Given the description of an element on the screen output the (x, y) to click on. 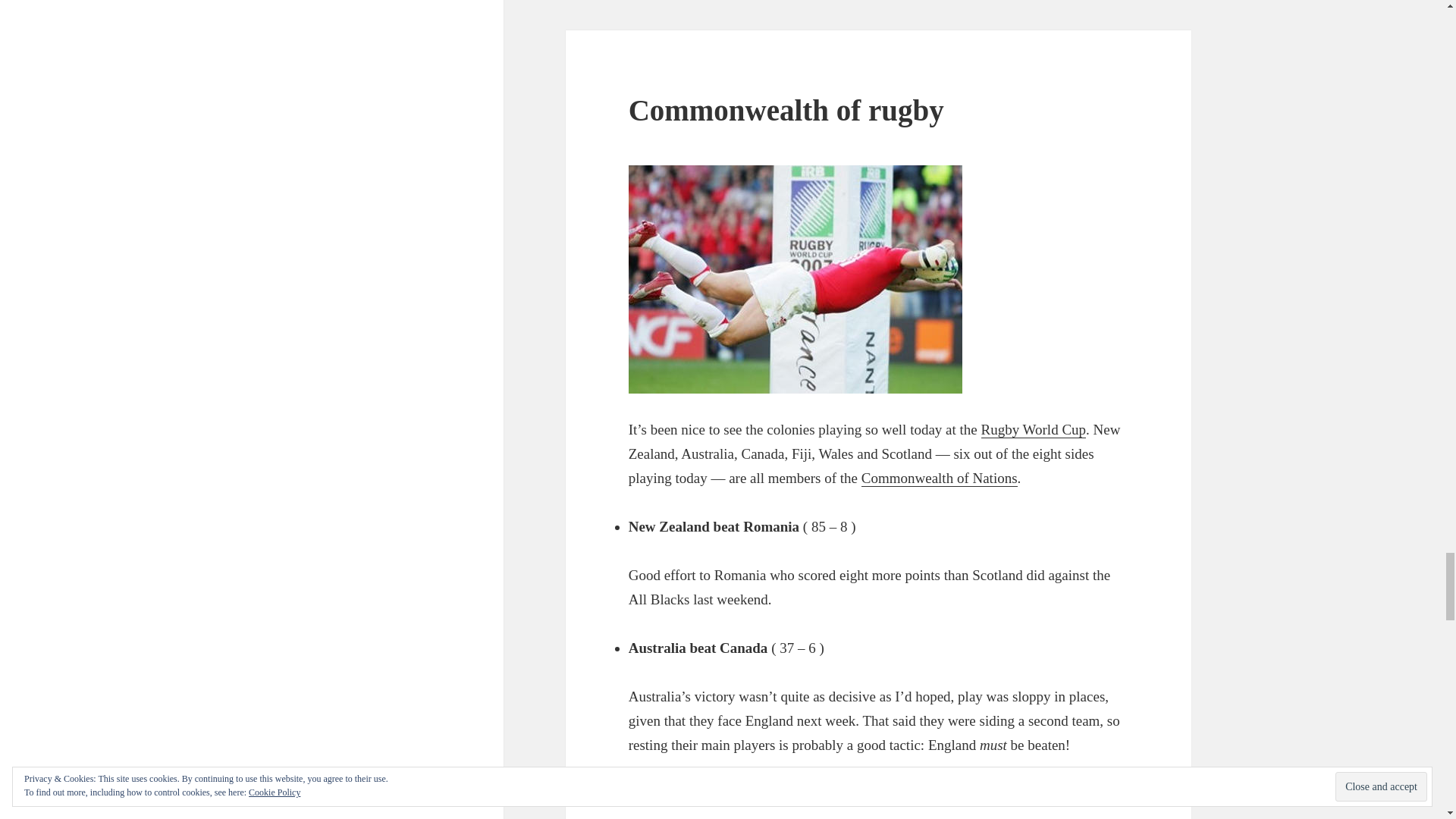
iRB Rugby World Cup 2007 (1033, 429)
About the Commonwealth of Nations (939, 478)
